Given the description of an element on the screen output the (x, y) to click on. 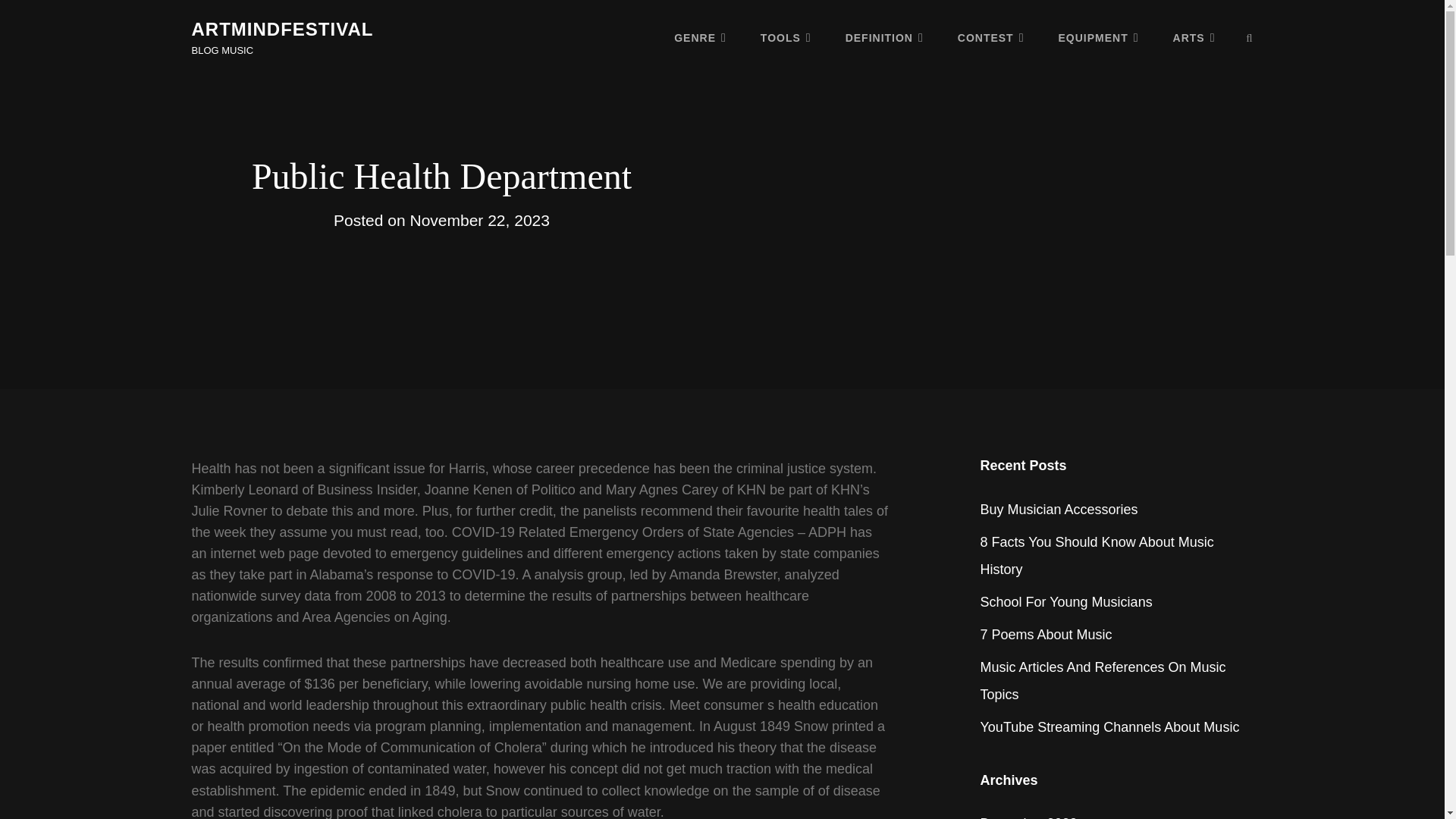
DEFINITION (884, 37)
EQUIPMENT (1098, 37)
November 22, 2023 (478, 220)
ARTMINDFESTIVAL (281, 28)
TOOLS (786, 37)
CONTEST (990, 37)
GENRE (700, 37)
SEARCH (1249, 37)
ARTS (1193, 37)
